Given the description of an element on the screen output the (x, y) to click on. 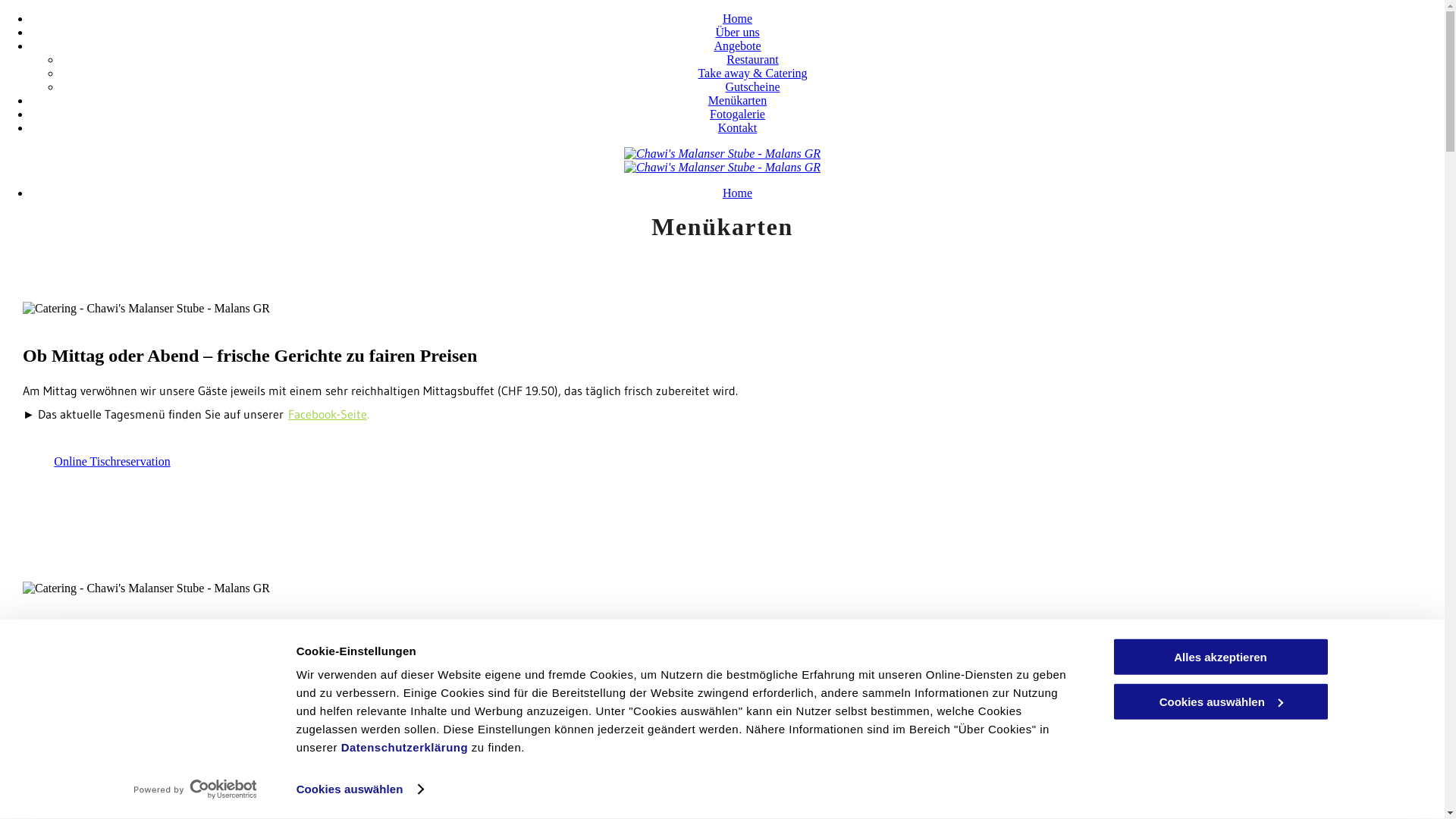
Online Tischreservation Element type: text (111, 751)
Fotogalerie Element type: text (737, 113)
Home Element type: text (737, 192)
Alles akzeptieren Element type: text (1219, 656)
Gutscheine Element type: text (751, 86)
Online Tischreservation Element type: text (111, 472)
Kontakt Element type: text (737, 127)
Restaurant Element type: text (752, 59)
Angebote Element type: text (736, 45)
Facebook-Seite Element type: text (327, 692)
Facebook-Seite Element type: text (327, 413)
Home Element type: text (737, 18)
Take away & Catering Element type: text (751, 72)
